Given the description of an element on the screen output the (x, y) to click on. 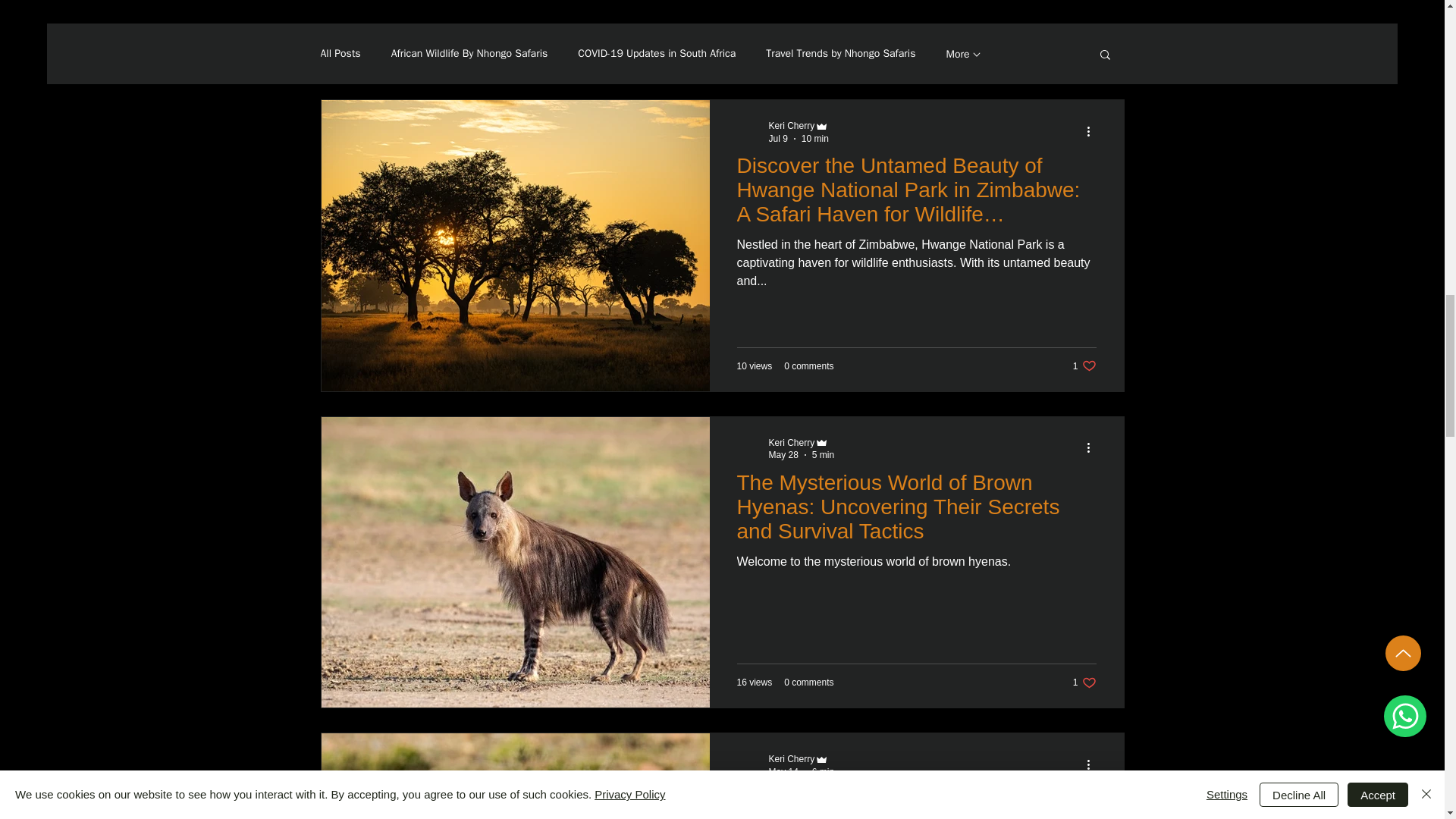
Jul 9 (777, 138)
May 28 (782, 454)
May 14 (782, 771)
10 min (815, 138)
5 min (823, 454)
6 min (823, 771)
Keri Cherry (791, 125)
Keri Cherry (791, 758)
Keri Cherry (791, 442)
